Given the description of an element on the screen output the (x, y) to click on. 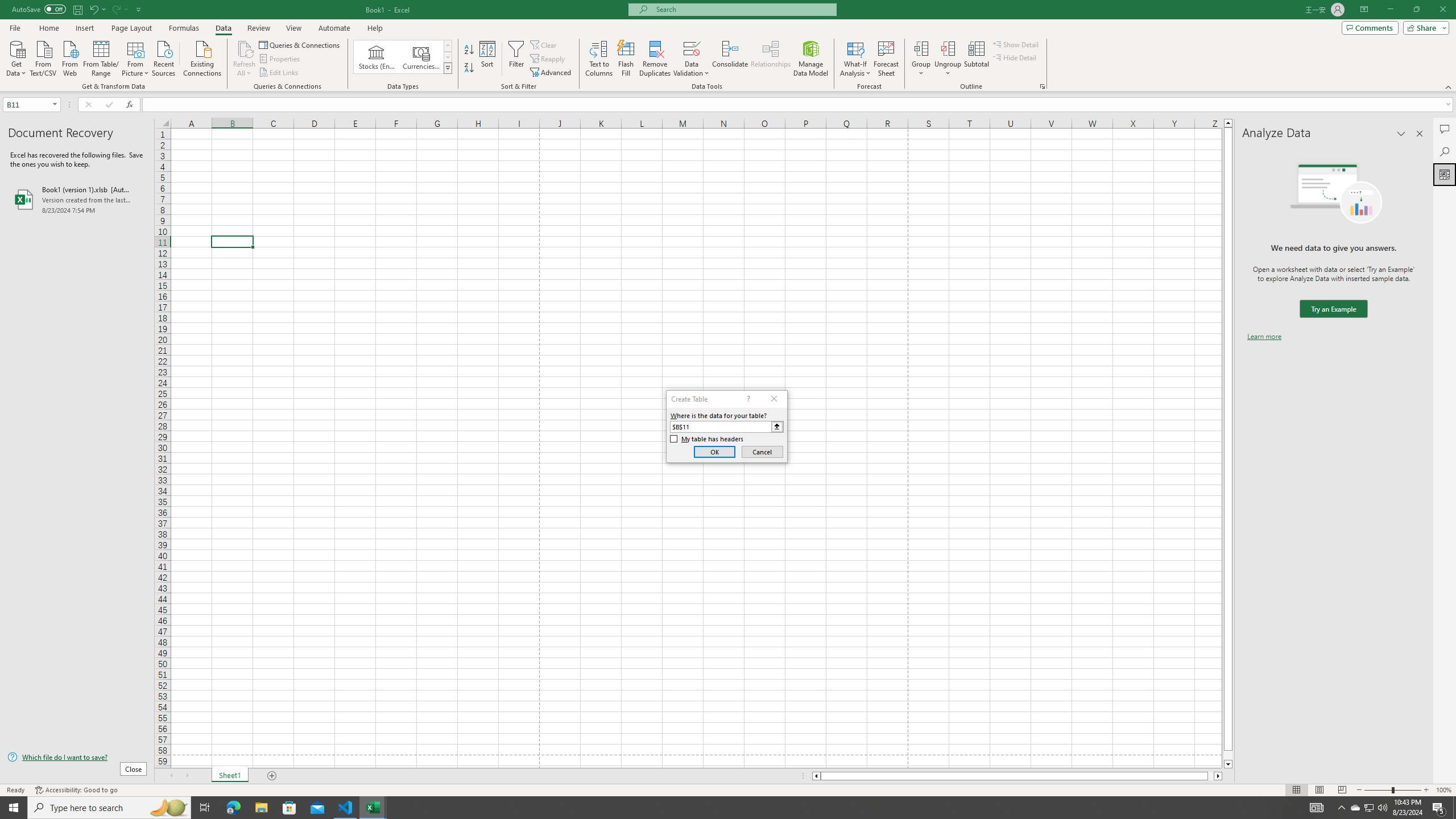
Line up (1228, 122)
Group... (921, 58)
Edit Links (279, 72)
Book1 (version 1).xlsb  [AutoRecovered] (77, 199)
Task Pane Options (1400, 133)
Collapse the Ribbon (1448, 86)
Page down (1228, 755)
We need data to give you answers. Try an Example (1333, 308)
Accessibility Checker Accessibility: Good to go (76, 790)
What-If Analysis (855, 58)
